Given the description of an element on the screen output the (x, y) to click on. 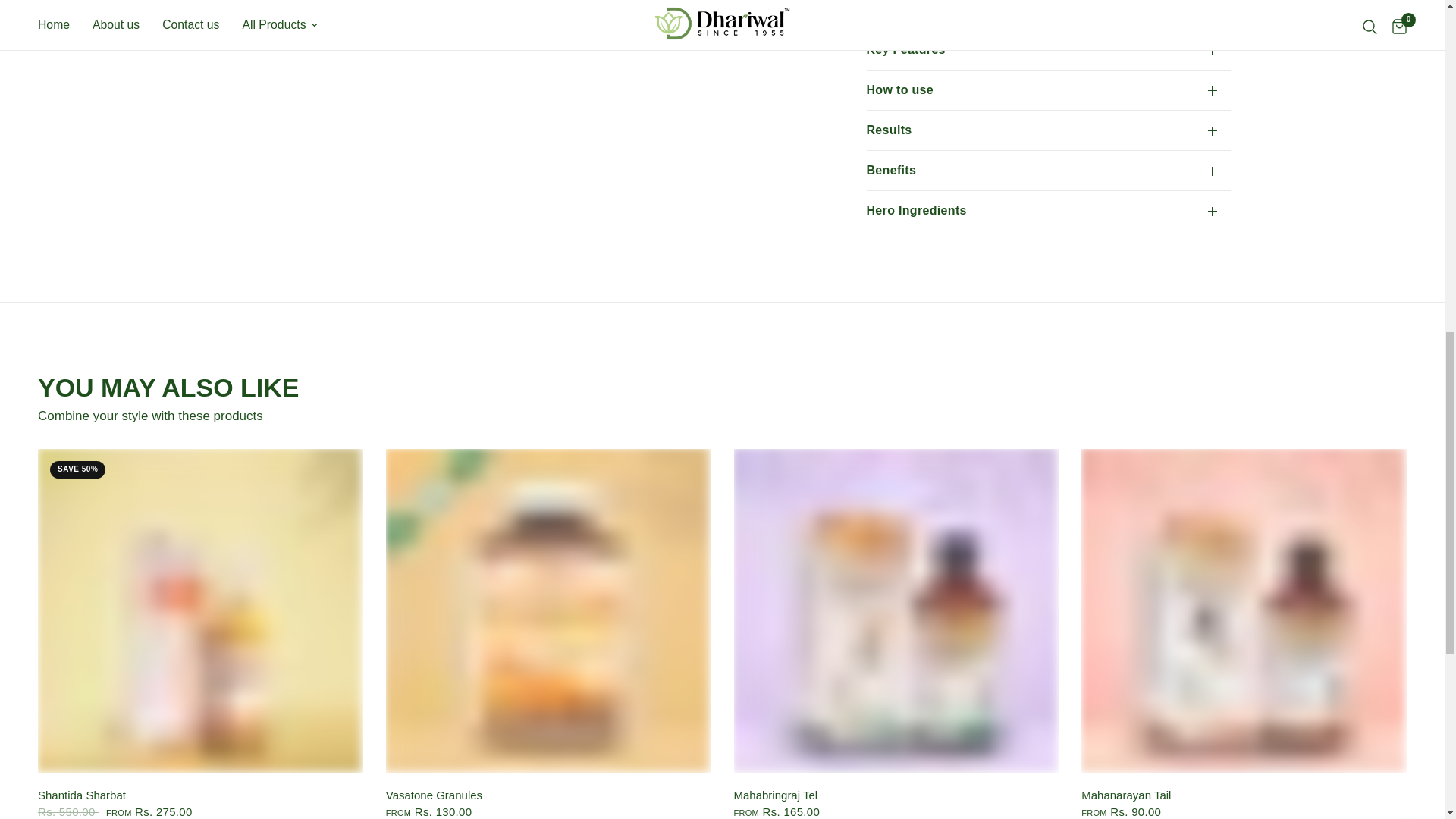
Vasatone Granules (548, 610)
Shantida Sharbat (199, 610)
Vasatone Granules (548, 795)
Shantida Sharbat (199, 795)
